Given the description of an element on the screen output the (x, y) to click on. 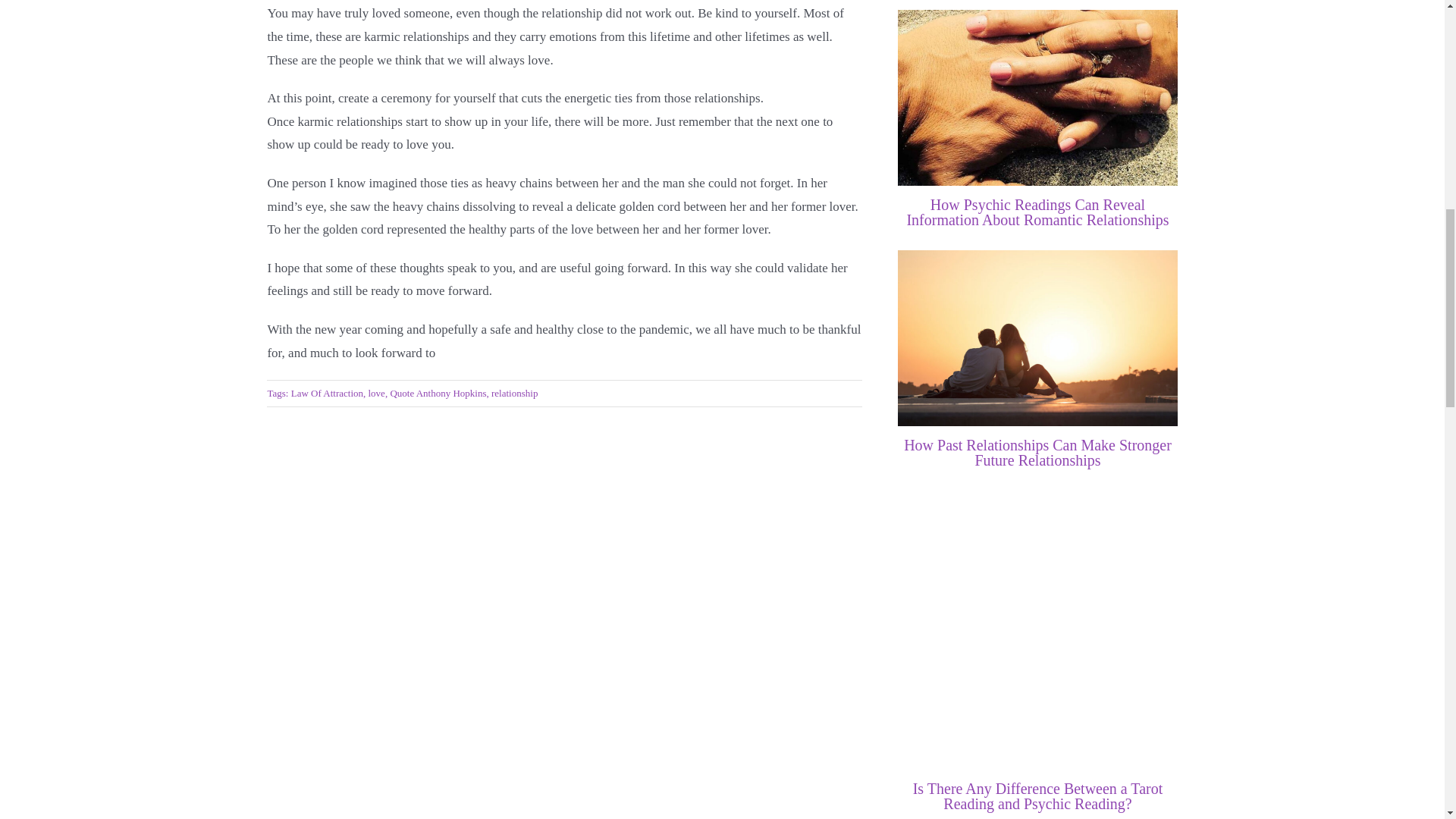
Law Of Attraction (326, 392)
love (376, 392)
Quote Anthony Hopkins (438, 392)
relationship (514, 392)
